Given the description of an element on the screen output the (x, y) to click on. 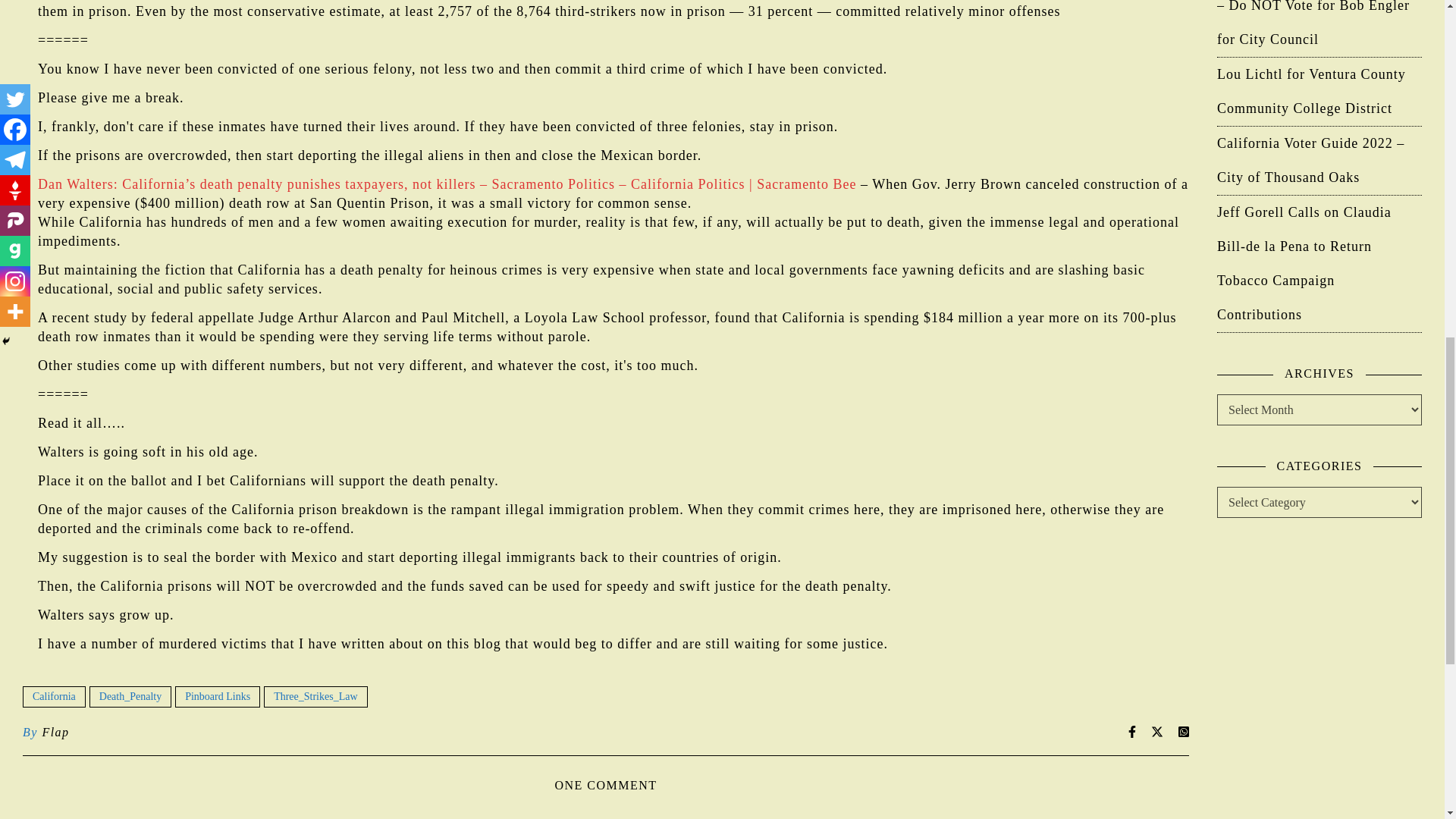
Pinboard Links (217, 696)
Posts by Flap (55, 732)
California (54, 696)
Flap (55, 732)
